Given the description of an element on the screen output the (x, y) to click on. 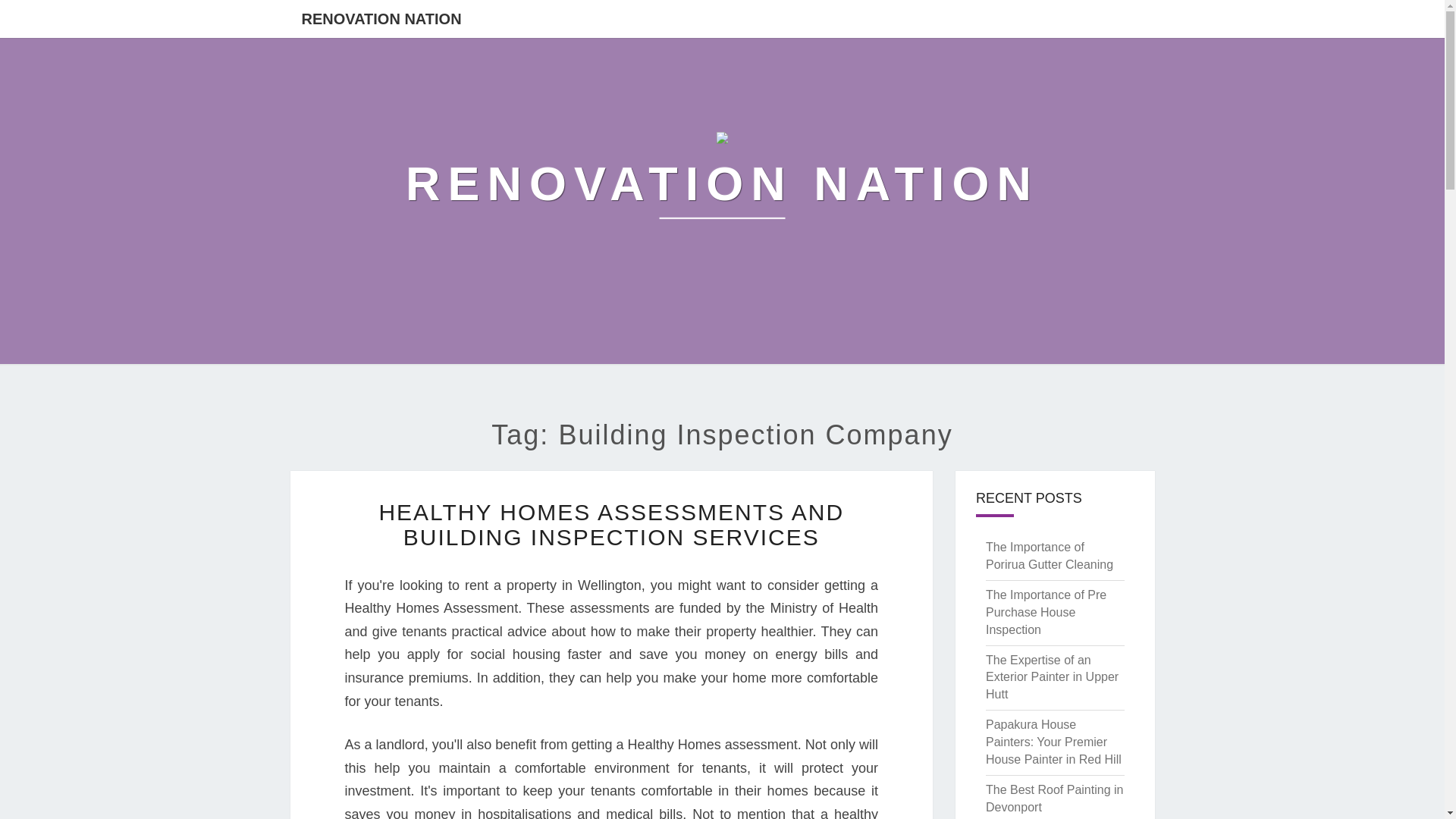
The Importance of Pre Purchase House Inspection (1045, 612)
RENOVATION NATION (380, 18)
The Expertise of an Exterior Painter in Upper Hutt (1051, 677)
Renovation Nation (722, 184)
The Best Roof Painting in Devonport (1053, 798)
RENOVATION NATION (722, 184)
HEALTHY HOMES ASSESSMENTS AND BUILDING INSPECTION SERVICES (611, 524)
The Importance of Porirua Gutter Cleaning (1049, 555)
